Given the description of an element on the screen output the (x, y) to click on. 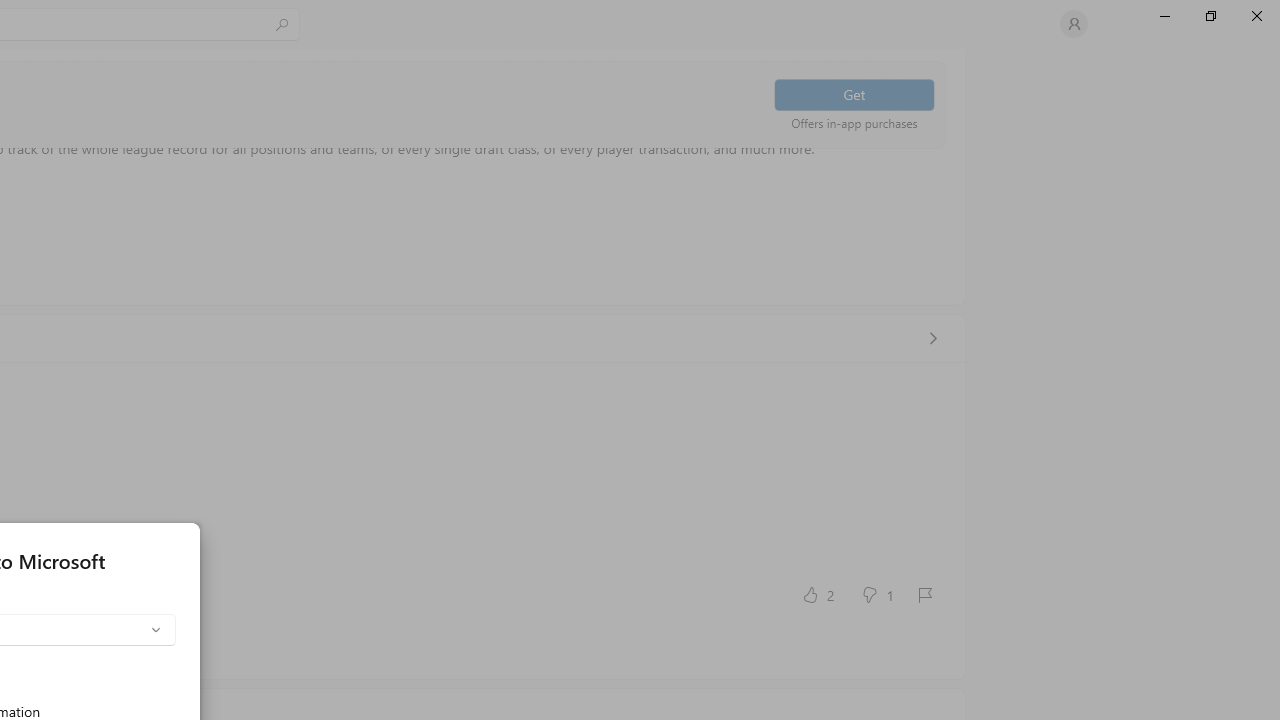
Show all ratings and reviews (932, 337)
Report review (924, 594)
No, this was not helpful. 1 votes. (875, 593)
Get (854, 94)
Yes, this was helpful. 2 votes. (816, 593)
